Given the description of an element on the screen output the (x, y) to click on. 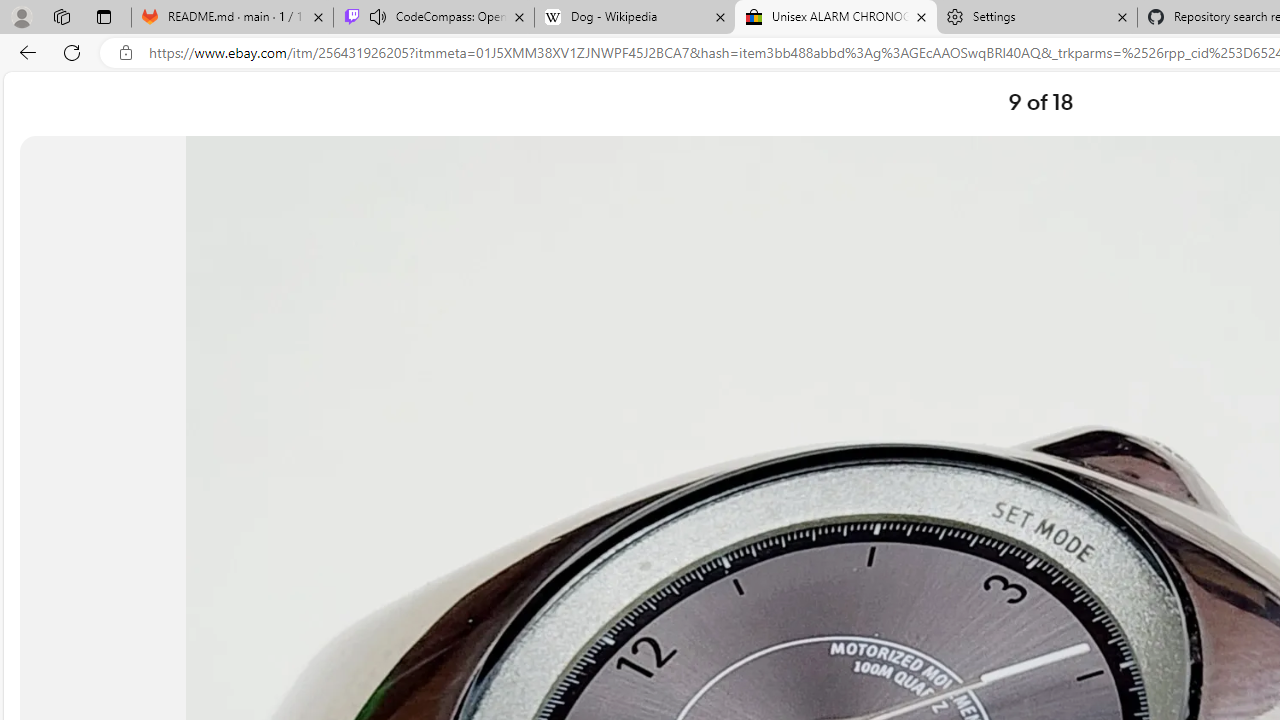
Mute tab (377, 16)
Dog - Wikipedia (634, 17)
